Given the description of an element on the screen output the (x, y) to click on. 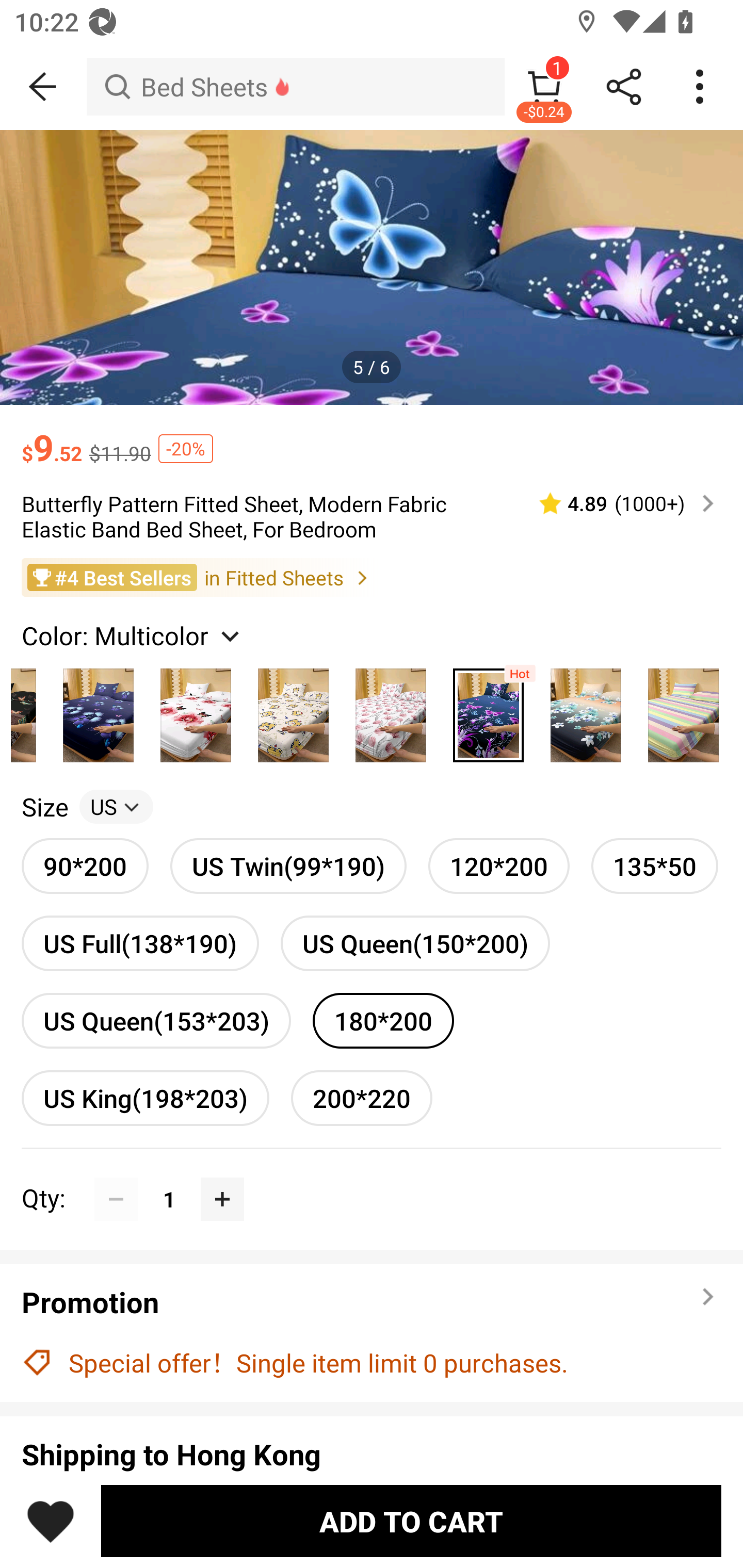
BACK (43, 86)
1 -$0.24 (543, 87)
Bed Sheets (295, 87)
PHOTOS 5 / 6 (371, 267)
5 / 6 (371, 366)
$9.52 $11.90 -20% (371, 437)
4.89 (1000‎+) (617, 503)
#4 Best Sellers in Fitted Sheets (371, 577)
Color: Multicolor (132, 634)
Multicolor (98, 710)
Multicolor (195, 710)
Multicolor (292, 710)
Multicolor (390, 710)
Multicolor (488, 710)
Multicolor (585, 710)
Multicolor (682, 710)
Size (44, 806)
US (116, 806)
90*200 90*200unselected option (84, 865)
US Twin(99*190) US Twin(99*190)unselected option (288, 865)
120*200 120*200unselected option (498, 865)
135*50 135*50unselected option (654, 865)
US Full(138*190) US Full(138*190)unselected option (140, 942)
180*200 180*200selected option (382, 1020)
US King(198*203) US King(198*203)unselected option (144, 1097)
200*220 200*220unselected option (361, 1097)
Qty: 1 (371, 1177)
Shipping to Hong Kong (371, 1453)
ADD TO CART (411, 1520)
Saved (50, 1520)
